Given the description of an element on the screen output the (x, y) to click on. 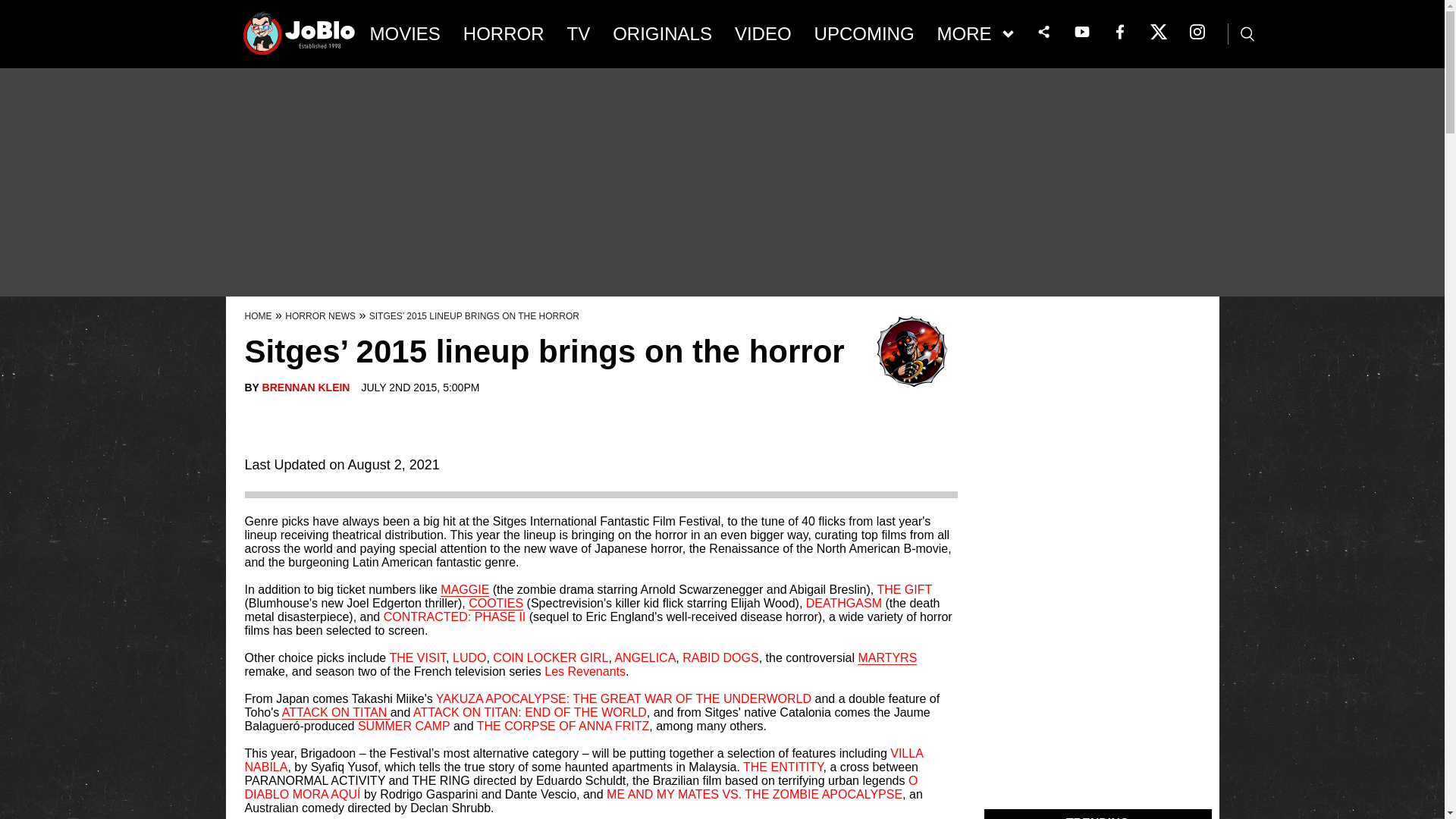
MOVIES (405, 34)
JoBlo Logo (299, 38)
Go (13, 7)
VIDEO (762, 34)
MORE (976, 34)
HORROR (503, 34)
ORIGINALS (662, 34)
UPCOMING (863, 34)
TV (578, 34)
